Given the description of an element on the screen output the (x, y) to click on. 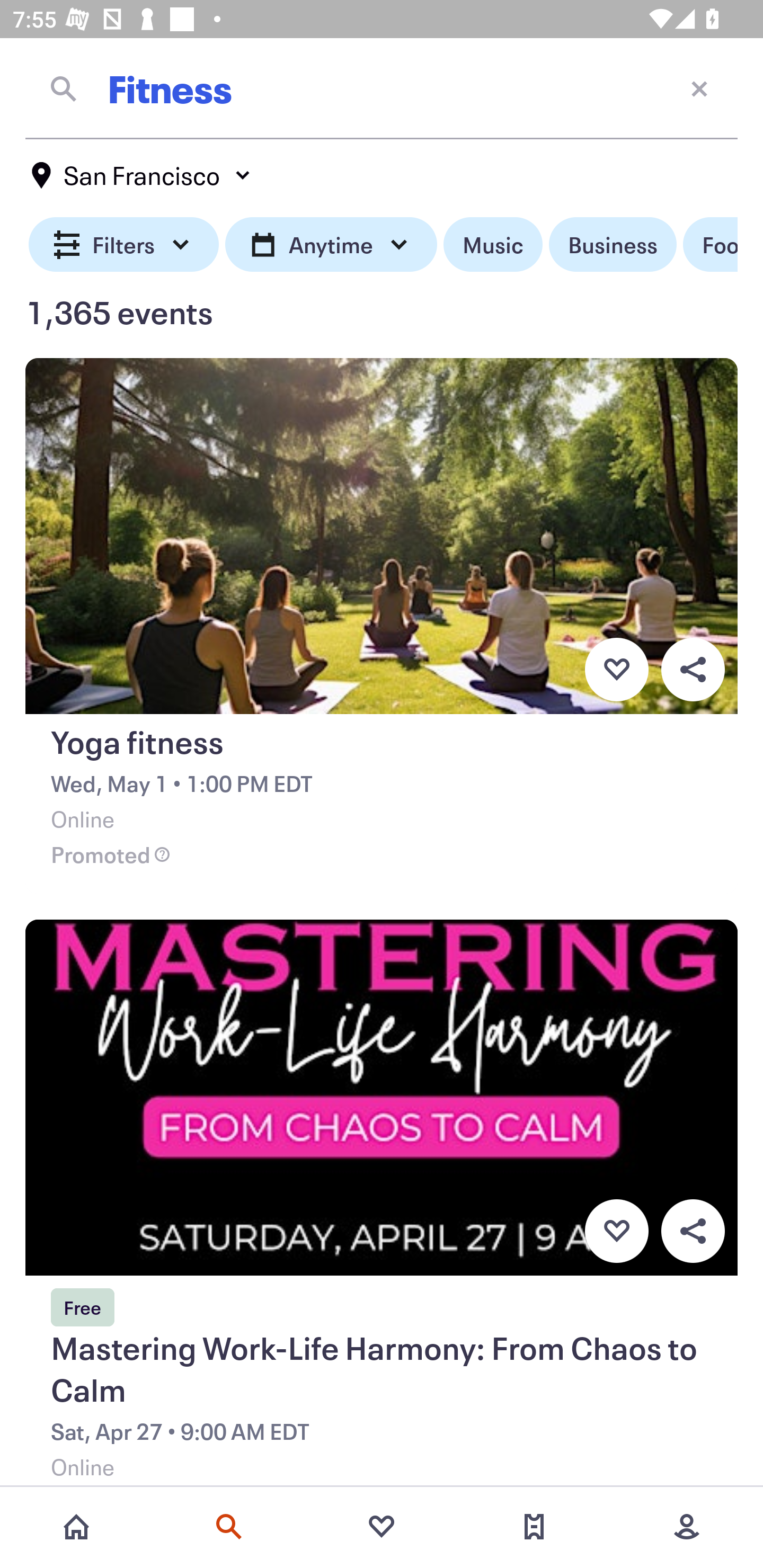
Fitness Close current screen (381, 88)
Close current screen (699, 88)
San Francisco (141, 175)
Filters (123, 244)
Anytime (331, 244)
Music (492, 244)
Business (612, 244)
Favorite button (616, 669)
Overflow menu button (692, 669)
Favorite button (616, 1230)
Overflow menu button (692, 1230)
Home (76, 1526)
Search events (228, 1526)
Favorites (381, 1526)
Tickets (533, 1526)
More (686, 1526)
